Given the description of an element on the screen output the (x, y) to click on. 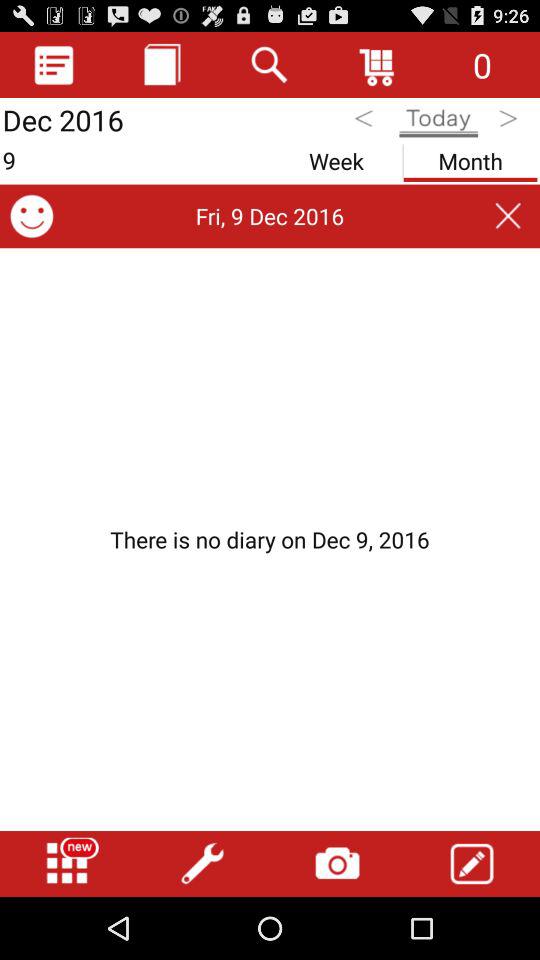
go back (366, 121)
